Given the description of an element on the screen output the (x, y) to click on. 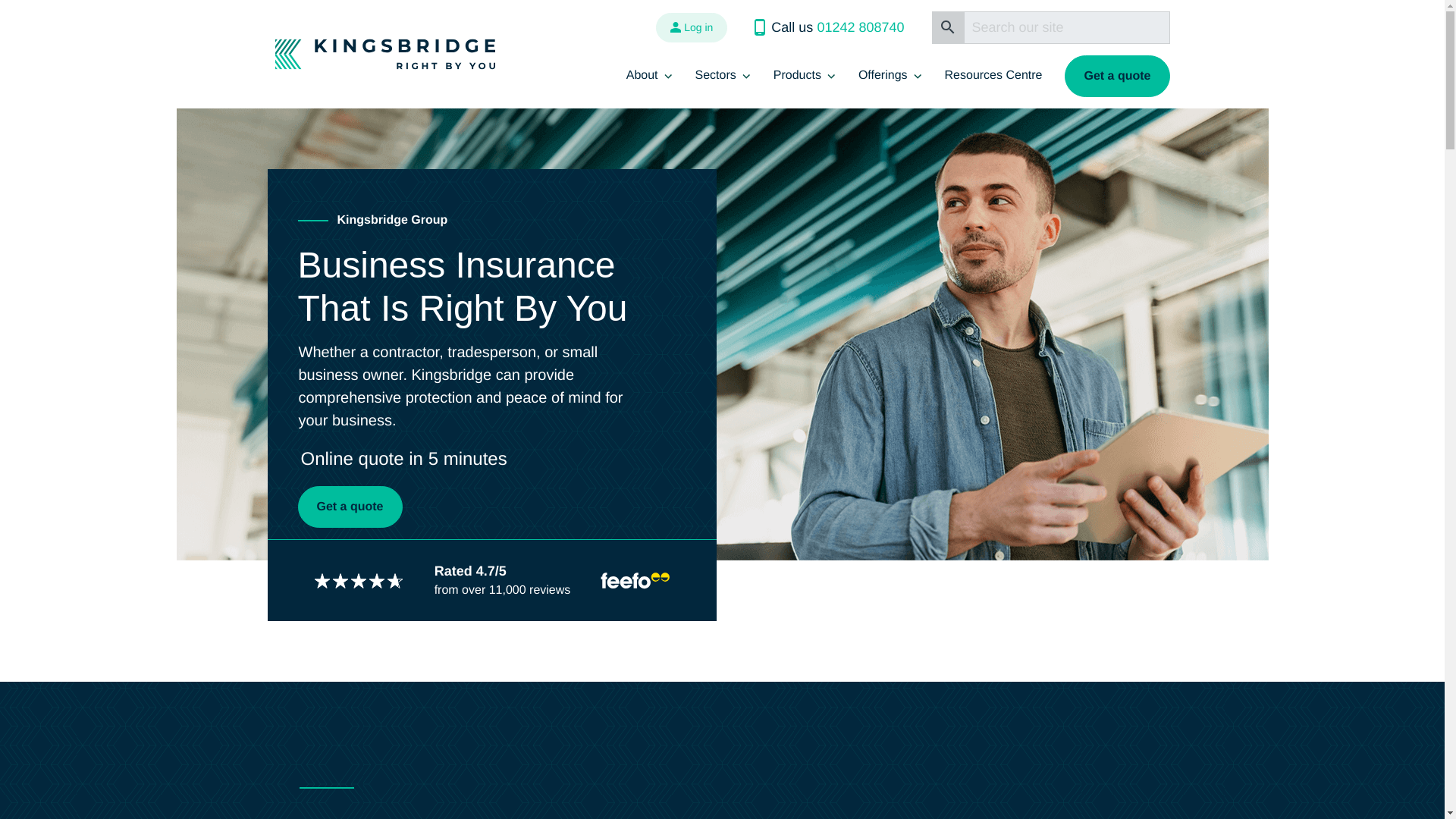
Brokers (974, 157)
Contractor Insurance (889, 120)
Reviews (742, 157)
Trades (811, 448)
Why us? (742, 120)
Trades Insurance (889, 157)
Social Care, Health and Education (811, 412)
SME Insurance (889, 193)
Run-Off Cover (889, 412)
About (649, 75)
Press (742, 230)
Refer a Friend (742, 193)
Offshore (811, 375)
Engineering (811, 230)
Get a quote (1116, 76)
